Given the description of an element on the screen output the (x, y) to click on. 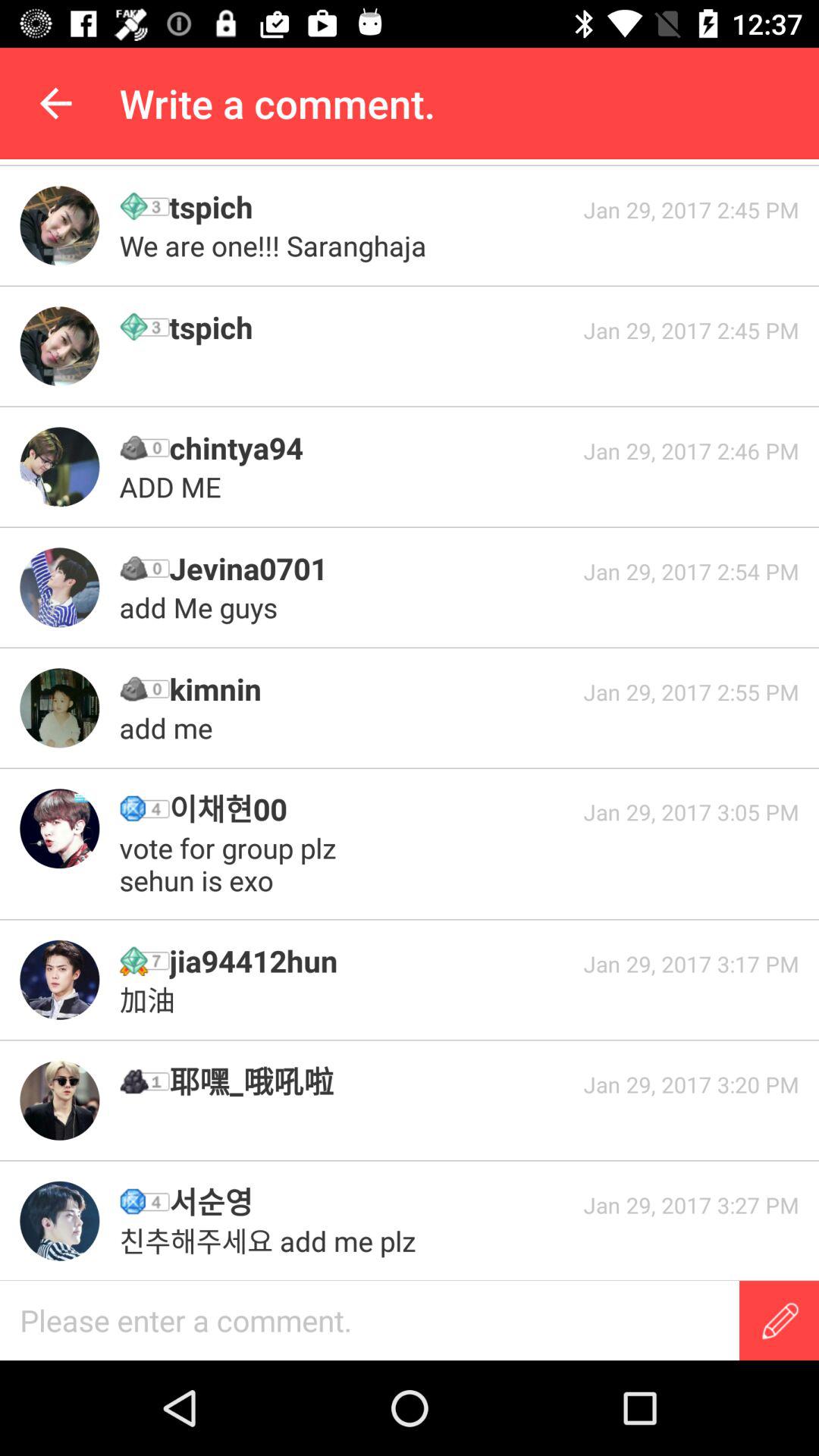
select contact (59, 1220)
